Given the description of an element on the screen output the (x, y) to click on. 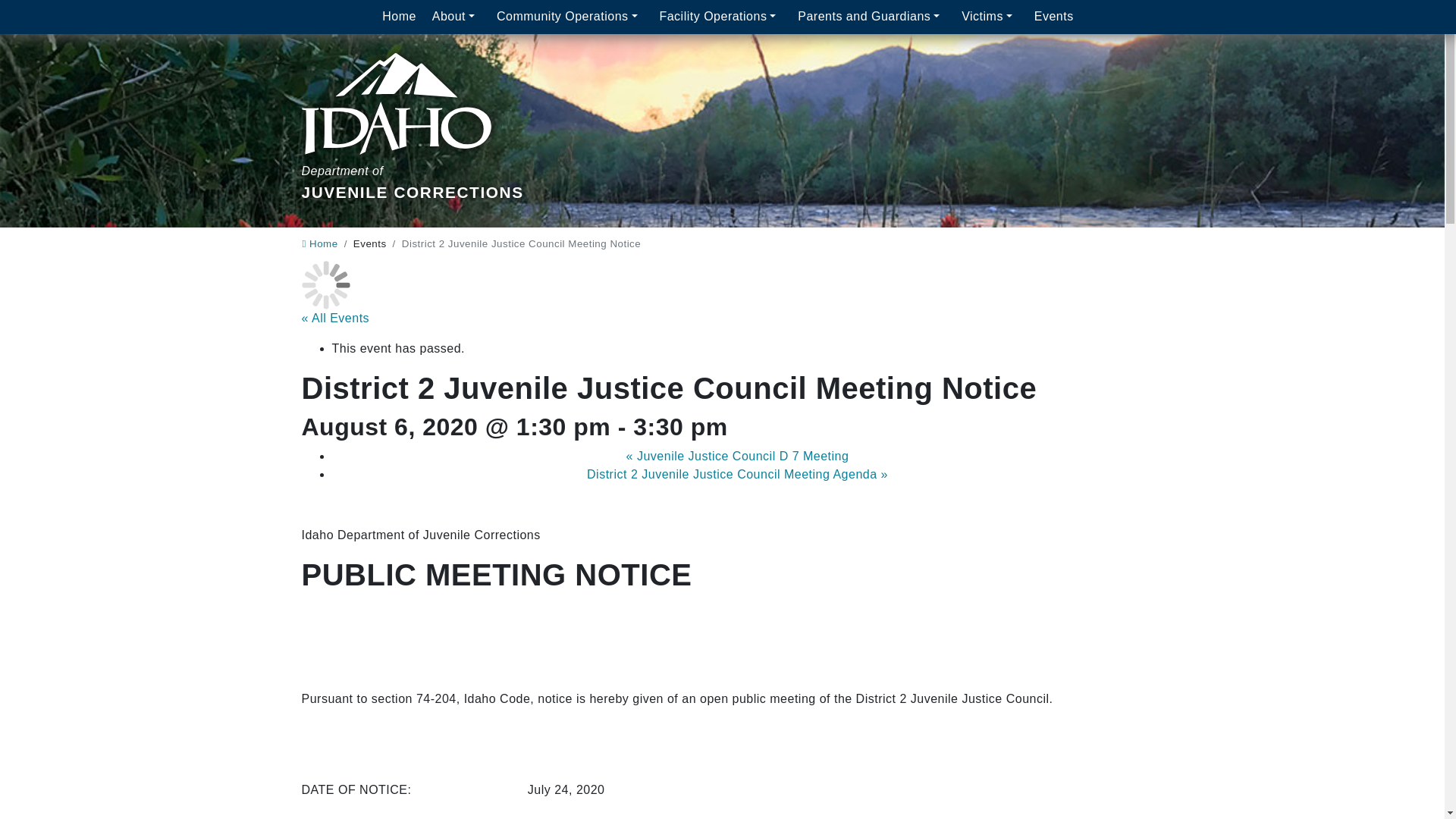
Home (398, 16)
Facility Operations (720, 16)
Community Operations (569, 16)
Events (412, 109)
Victims (1053, 16)
Home (989, 16)
About (319, 243)
Home (455, 16)
Community Operations (398, 16)
